Given the description of an element on the screen output the (x, y) to click on. 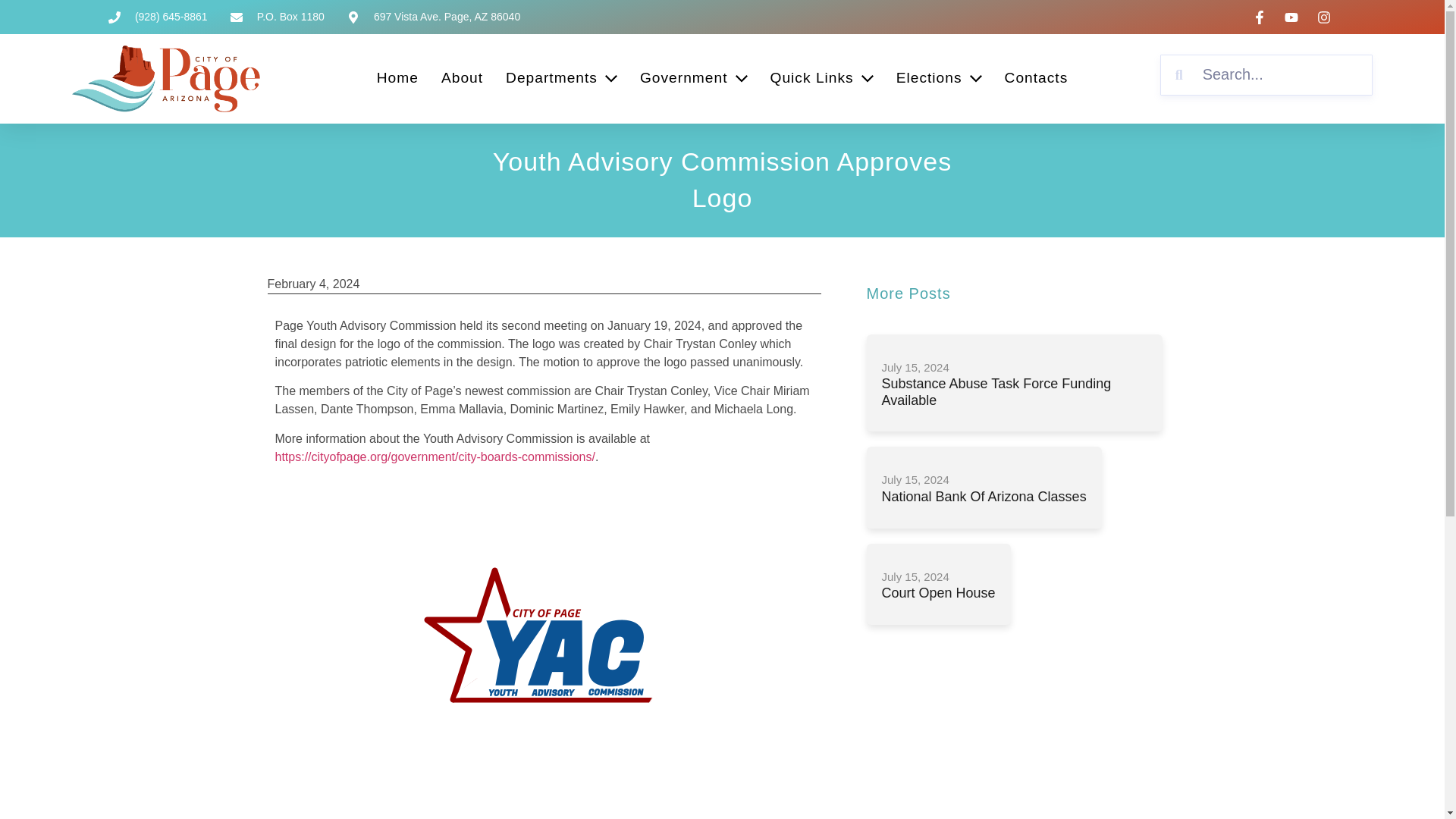
About (462, 78)
Home (397, 78)
Departments (561, 78)
